Given the description of an element on the screen output the (x, y) to click on. 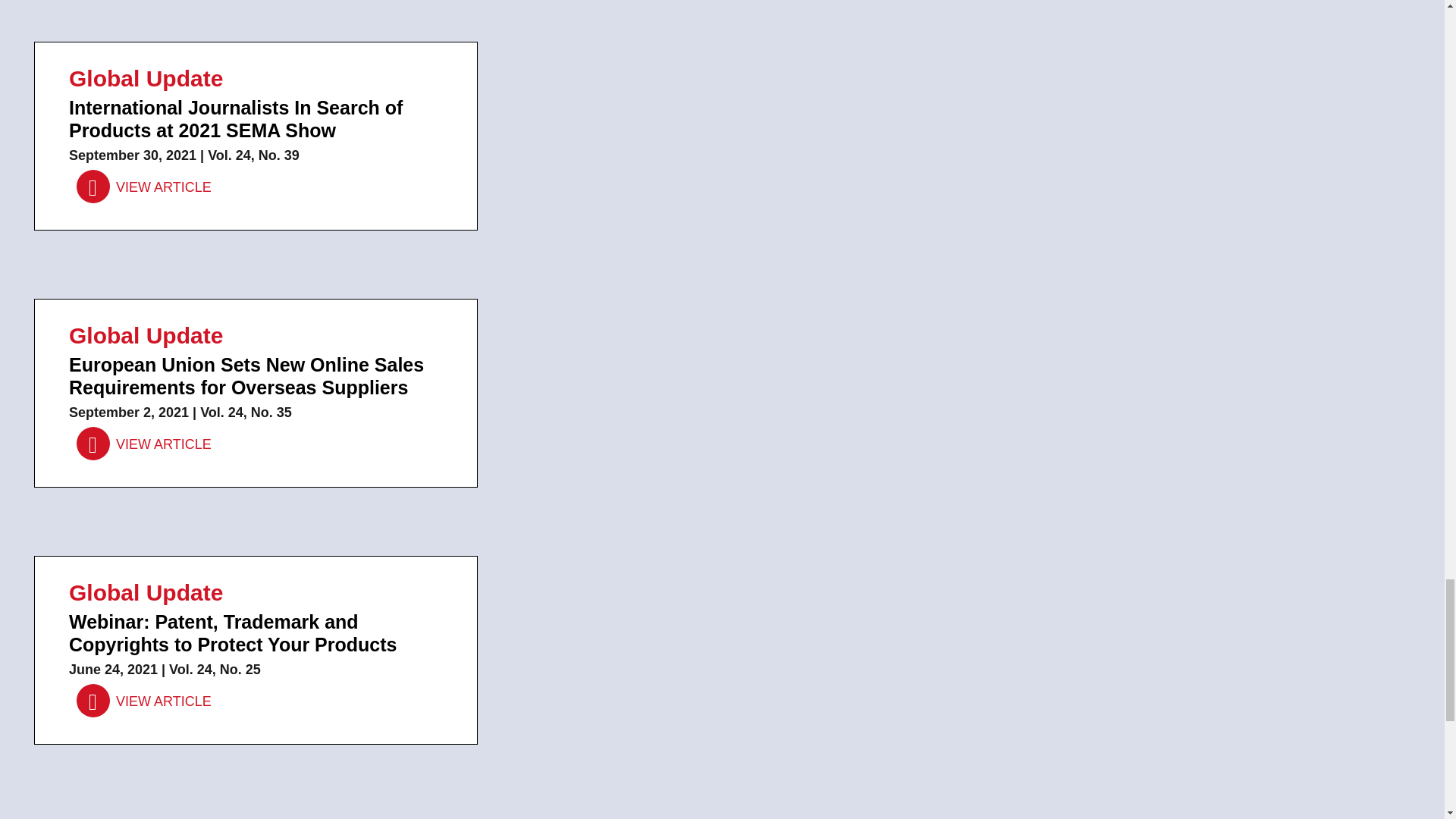
VIEW ARTICLE (143, 701)
VIEW ARTICLE (143, 186)
VIEW ARTICLE (143, 444)
